Given the description of an element on the screen output the (x, y) to click on. 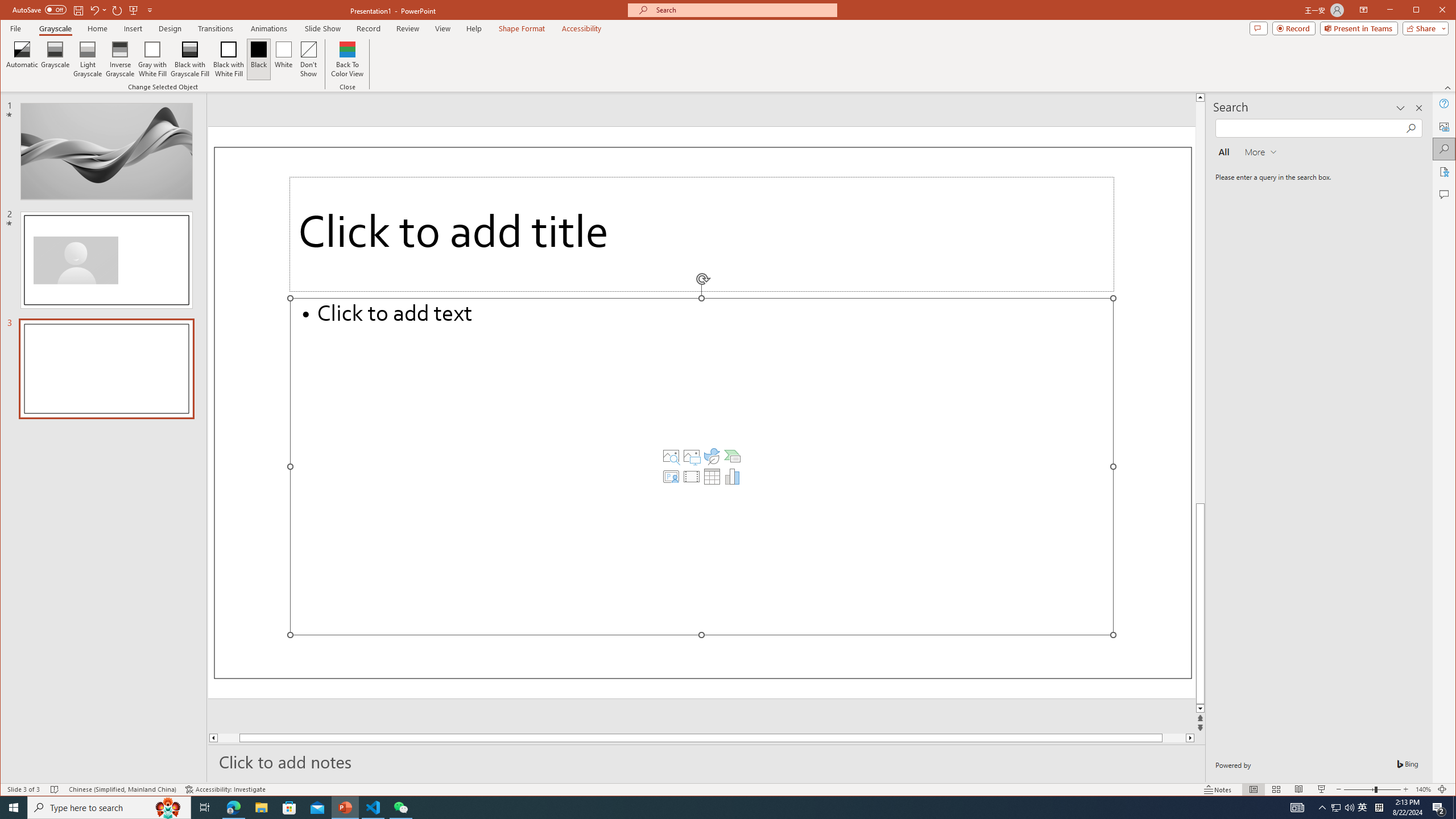
Zoom 140% (1422, 789)
